Given the description of an element on the screen output the (x, y) to click on. 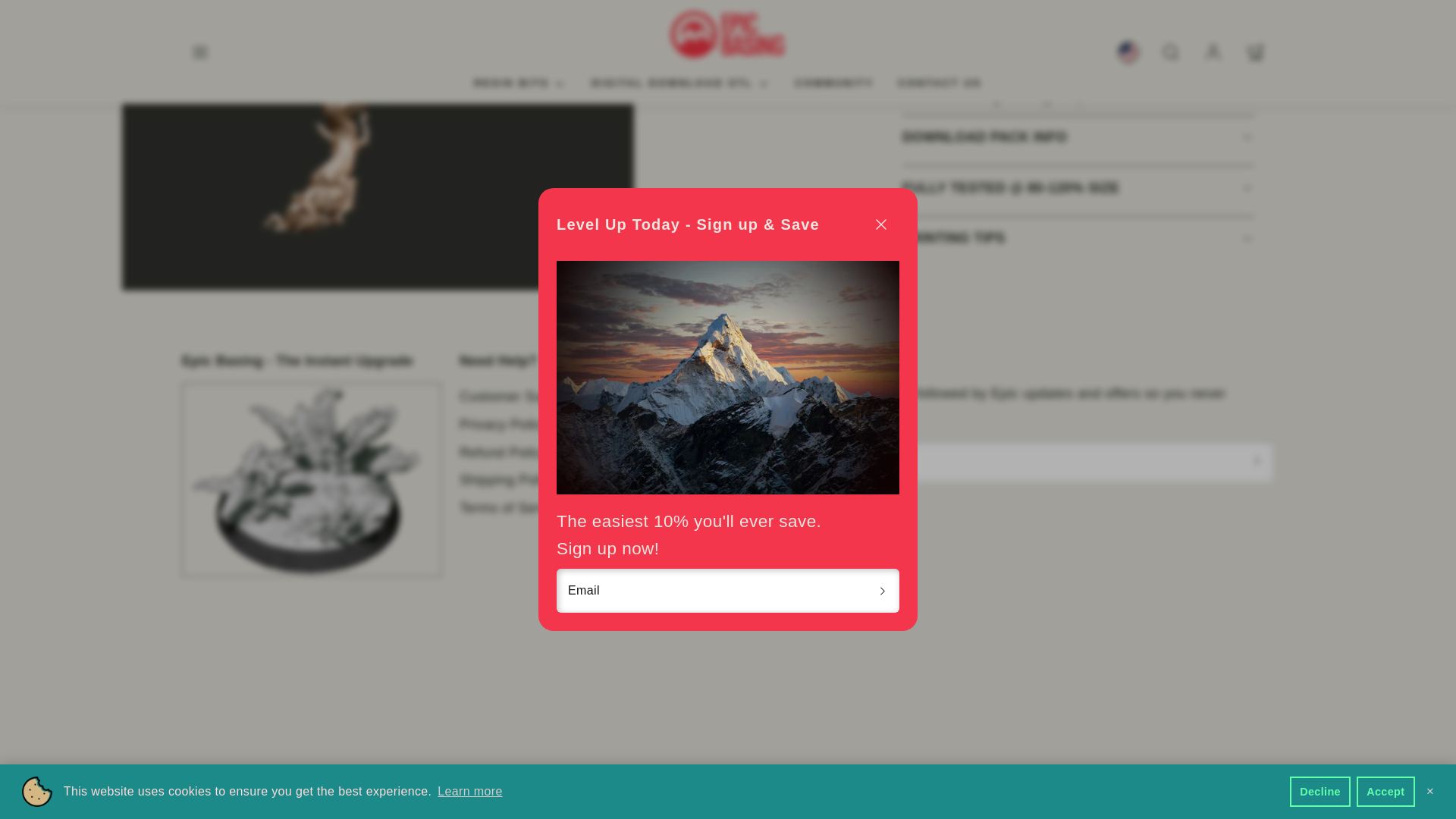
Apple Pay (231, 653)
Discover (300, 653)
American Express (196, 653)
PayPal (440, 653)
Maestro (370, 653)
Mastercard (405, 653)
Diners Club (266, 653)
JCB (335, 653)
